Given the description of an element on the screen output the (x, y) to click on. 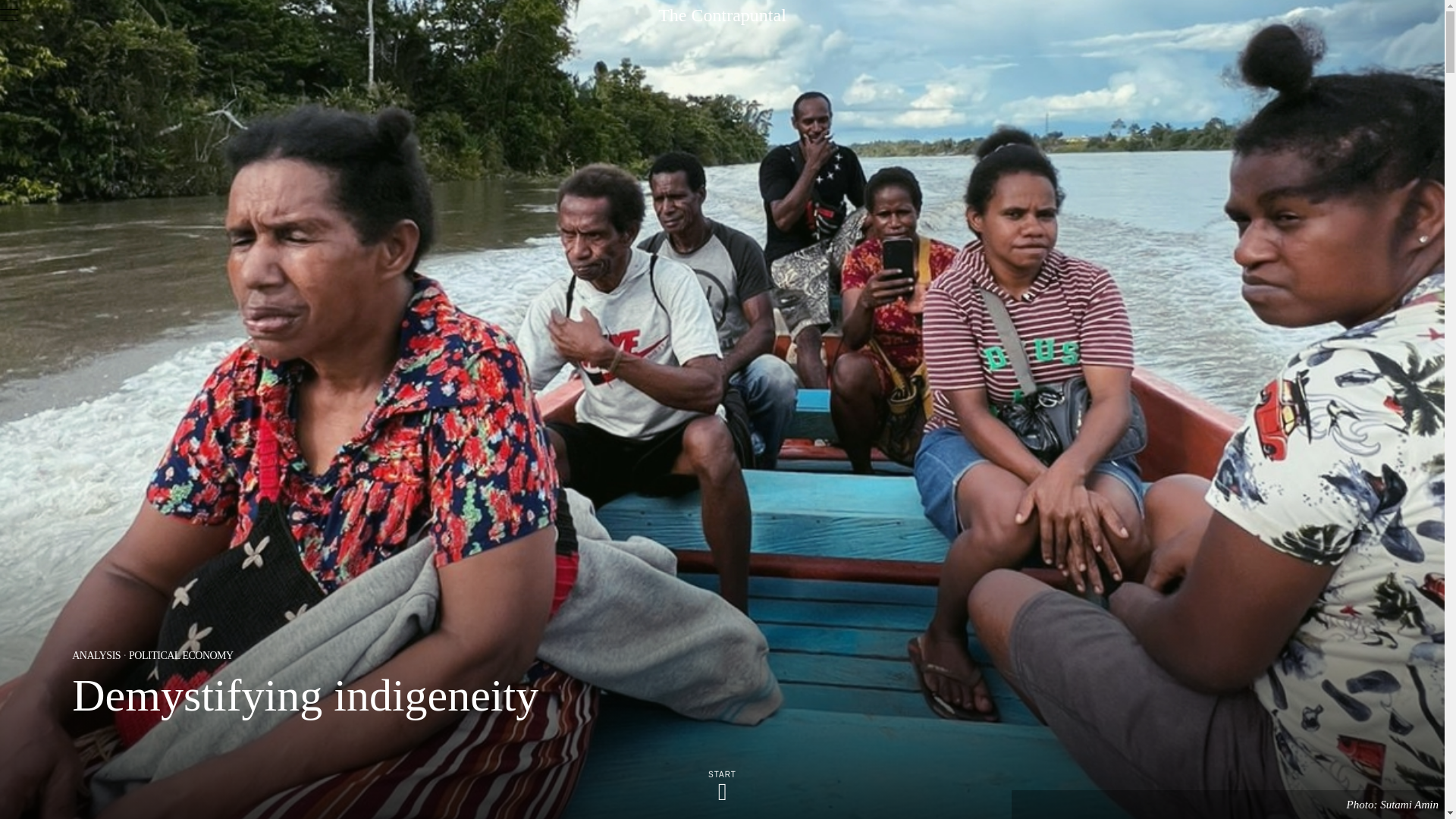
POLITICAL ECONOMY (180, 656)
The Contrapuntal (722, 14)
ANALYSIS (95, 656)
